Given the description of an element on the screen output the (x, y) to click on. 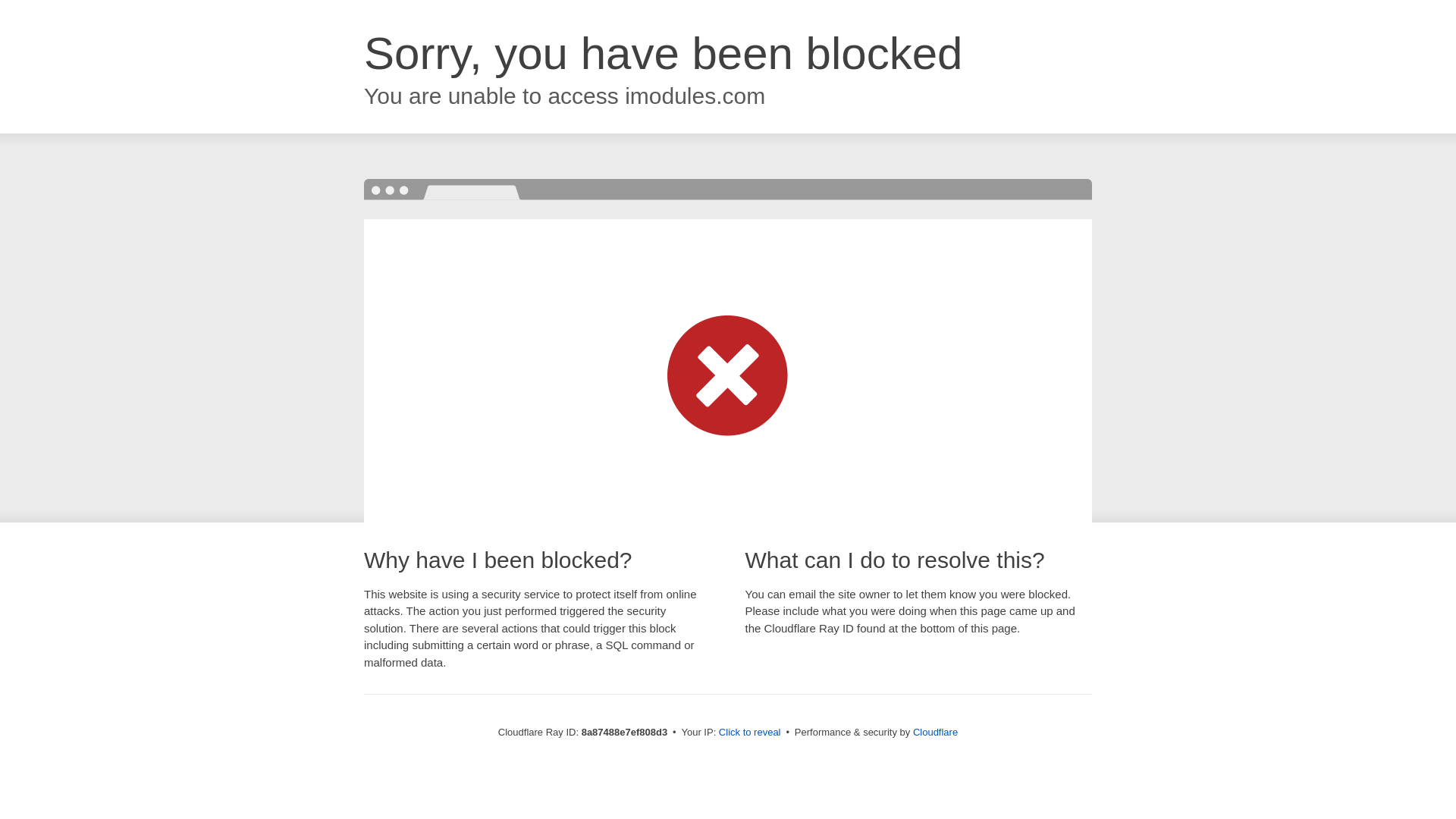
Cloudflare (935, 731)
Click to reveal (749, 732)
